Given the description of an element on the screen output the (x, y) to click on. 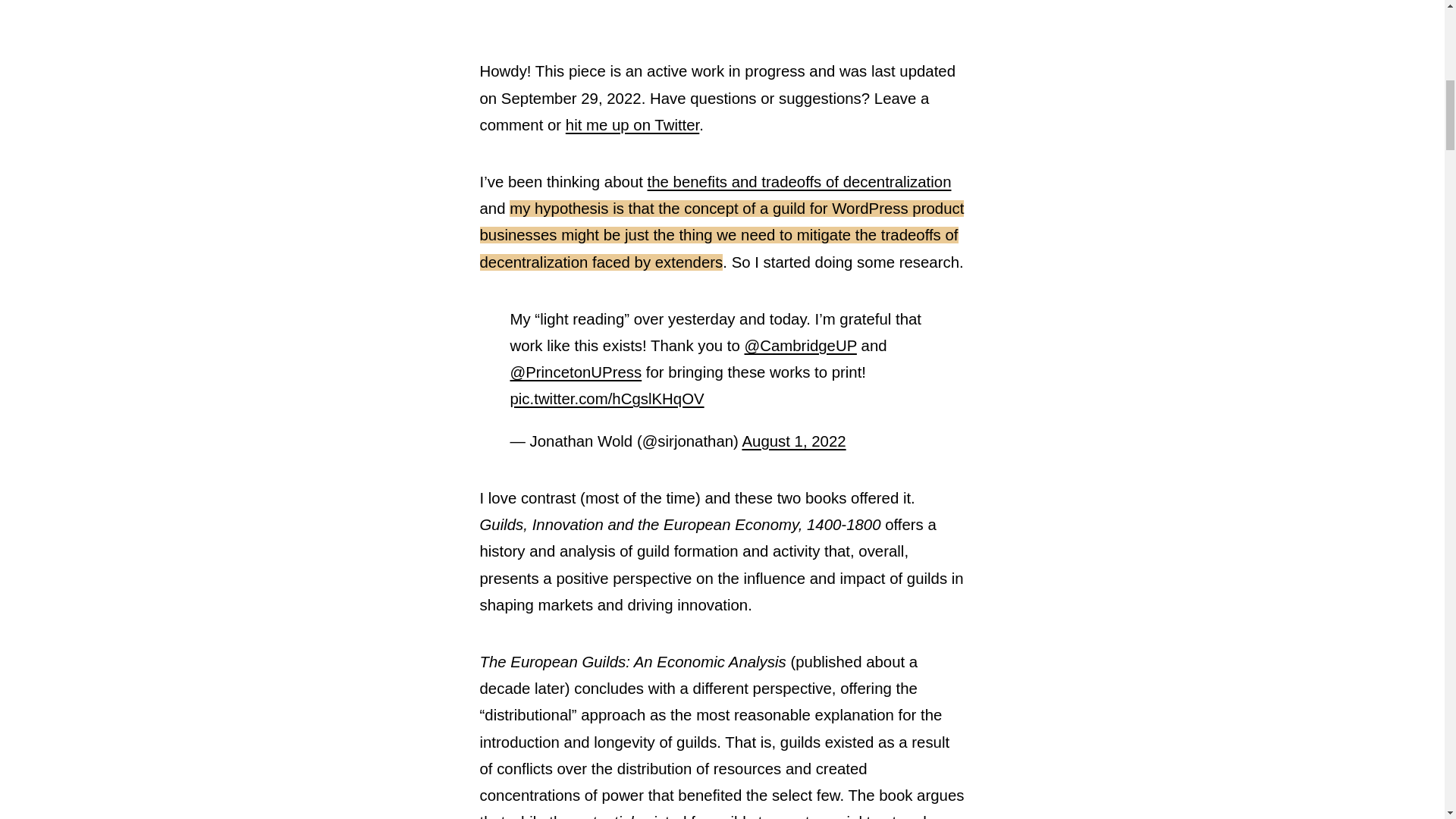
August 1, 2022 (793, 441)
hit me up on Twitter (632, 125)
the benefits and tradeoffs of decentralization (799, 181)
